Given the description of an element on the screen output the (x, y) to click on. 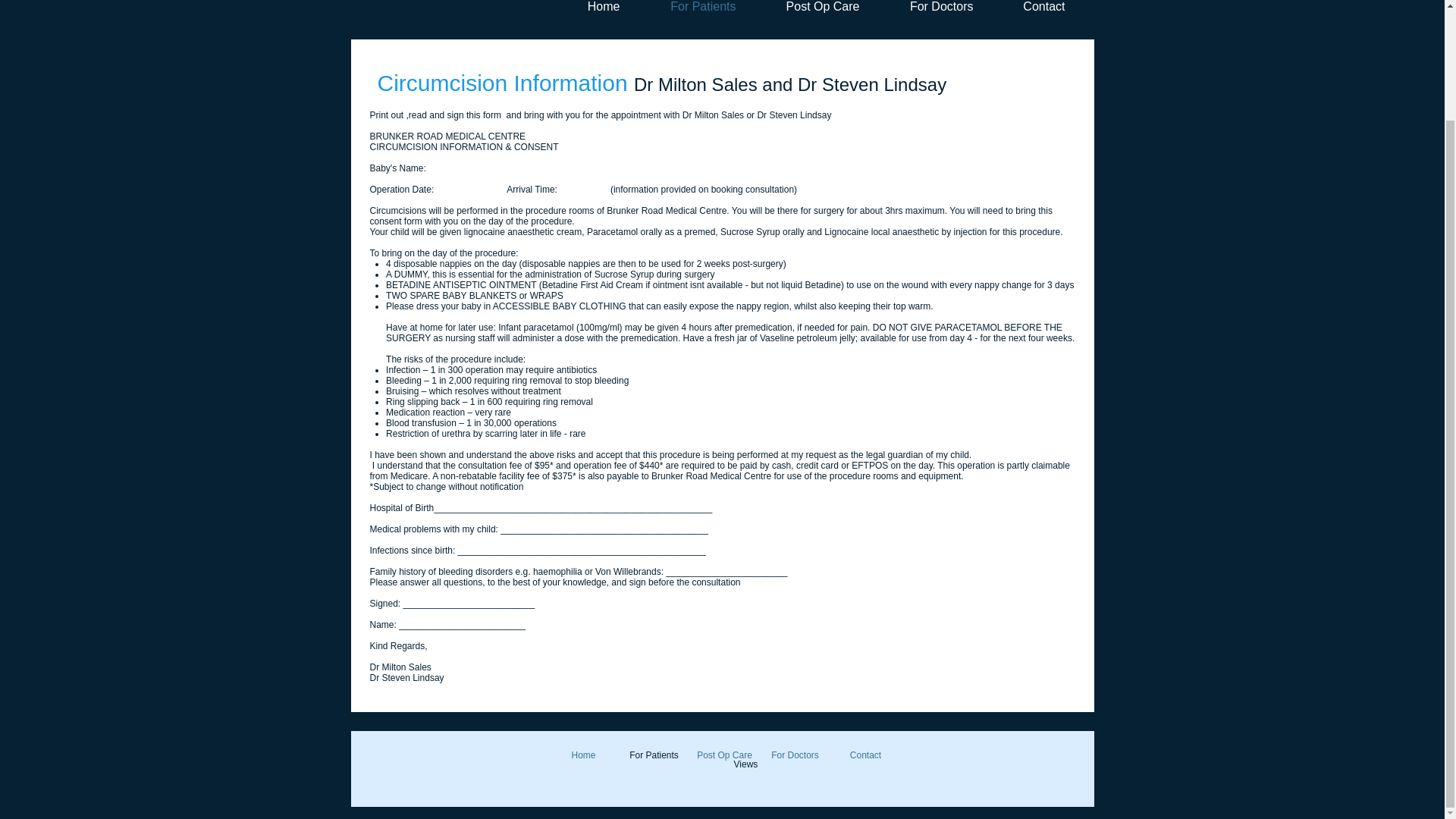
For Doctors (794, 754)
Contact (1034, 7)
For Doctors (931, 7)
For Patients (692, 7)
Post Op Care (724, 754)
For Patients (653, 754)
Contact (865, 754)
Post Op Care (813, 7)
Home (592, 7)
Home (583, 754)
